Given the description of an element on the screen output the (x, y) to click on. 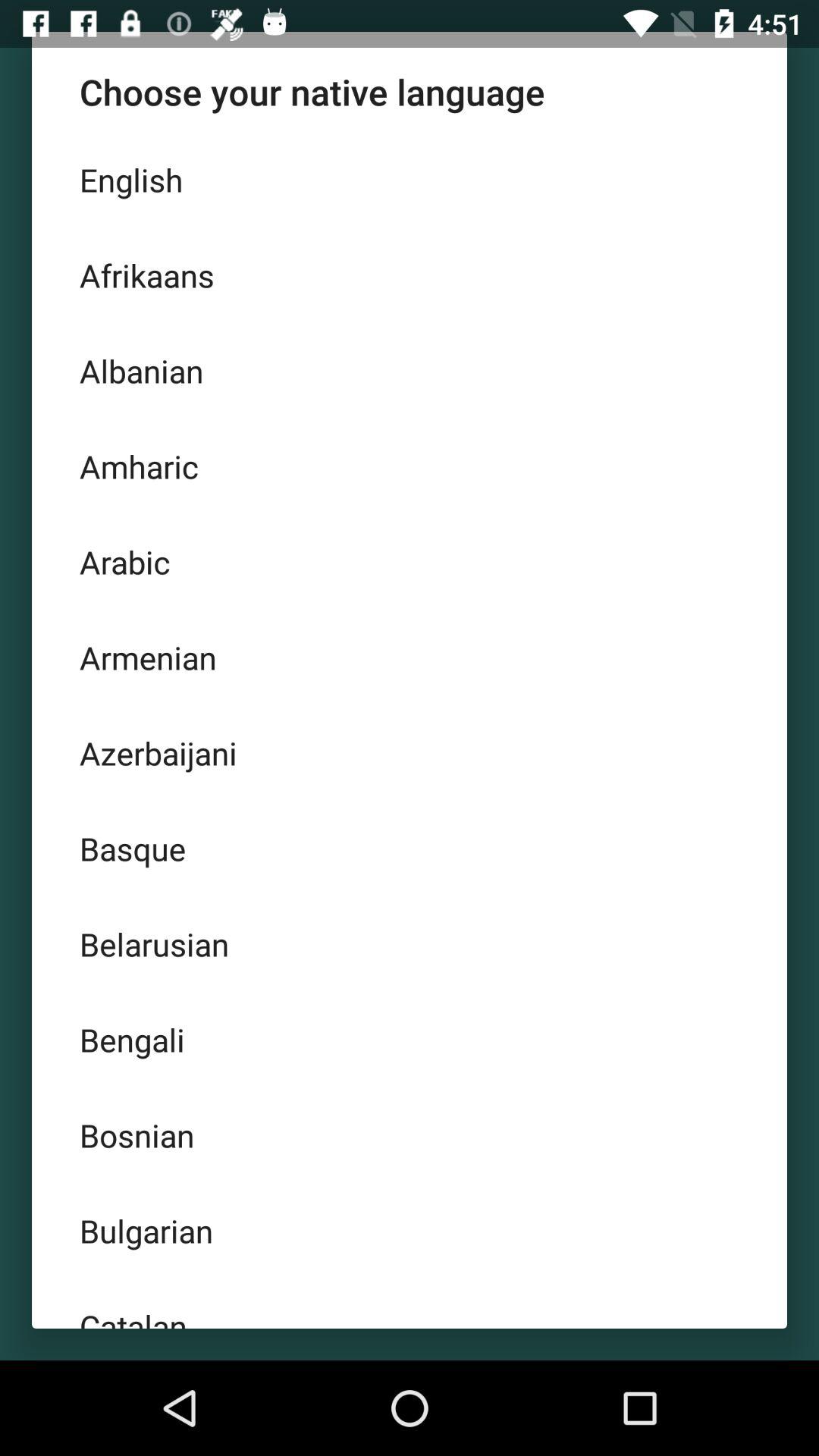
turn on english (409, 179)
